Given the description of an element on the screen output the (x, y) to click on. 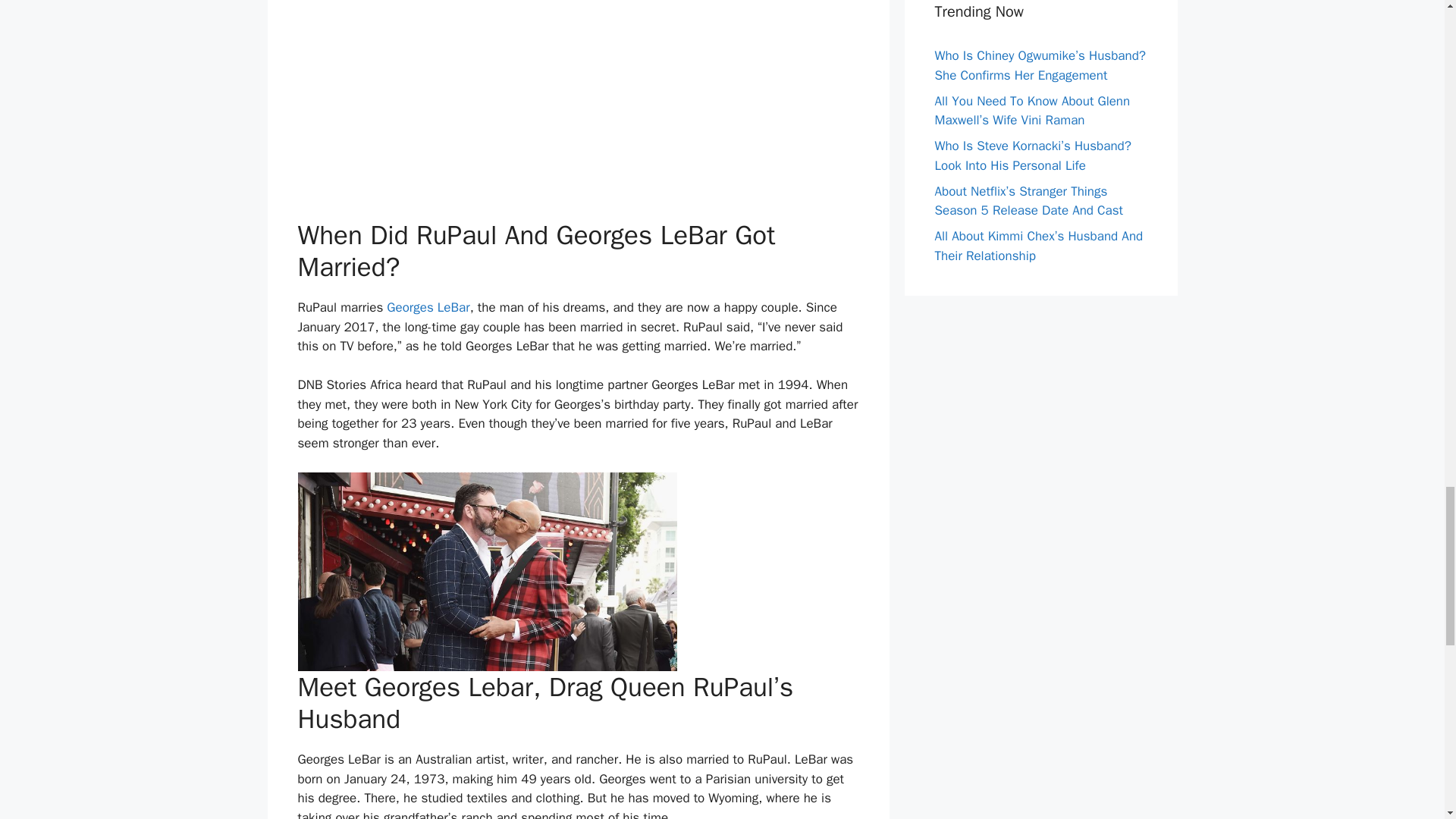
Advertisement (578, 106)
Georges LeBar (427, 307)
